Given the description of an element on the screen output the (x, y) to click on. 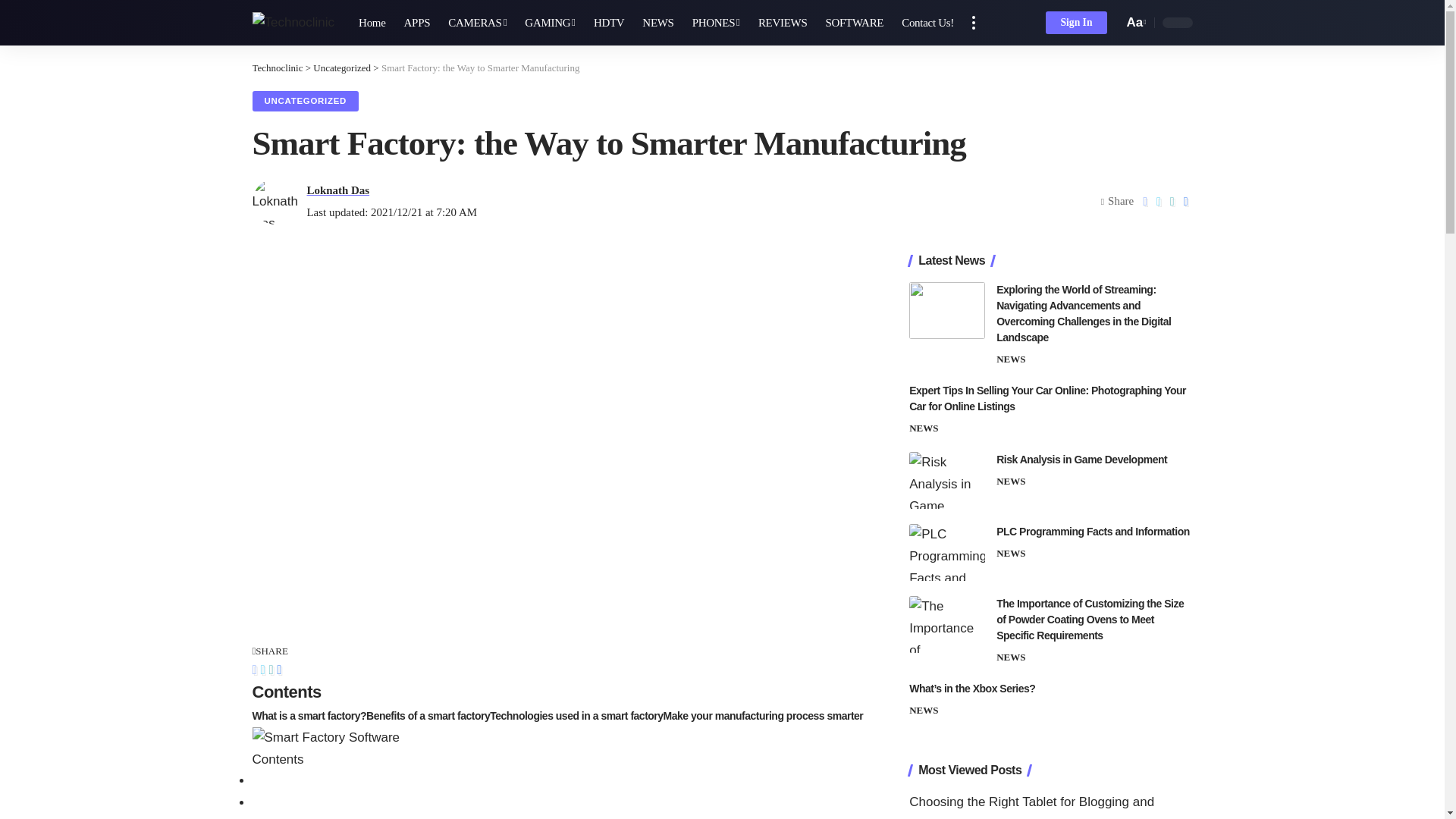
Go to Technoclinic. (276, 67)
Home (371, 22)
Aa (1133, 23)
APPS (416, 22)
Go to the Uncategorized Category archives. (342, 67)
SOFTWARE (853, 22)
CAMERAS (477, 22)
GAMING (550, 22)
NEWS (657, 22)
Technoclinic (292, 23)
HDTV (609, 22)
PLC Programming Facts and Information (946, 552)
REVIEWS (782, 22)
Risk Analysis in Game Development (946, 480)
